Given the description of an element on the screen output the (x, y) to click on. 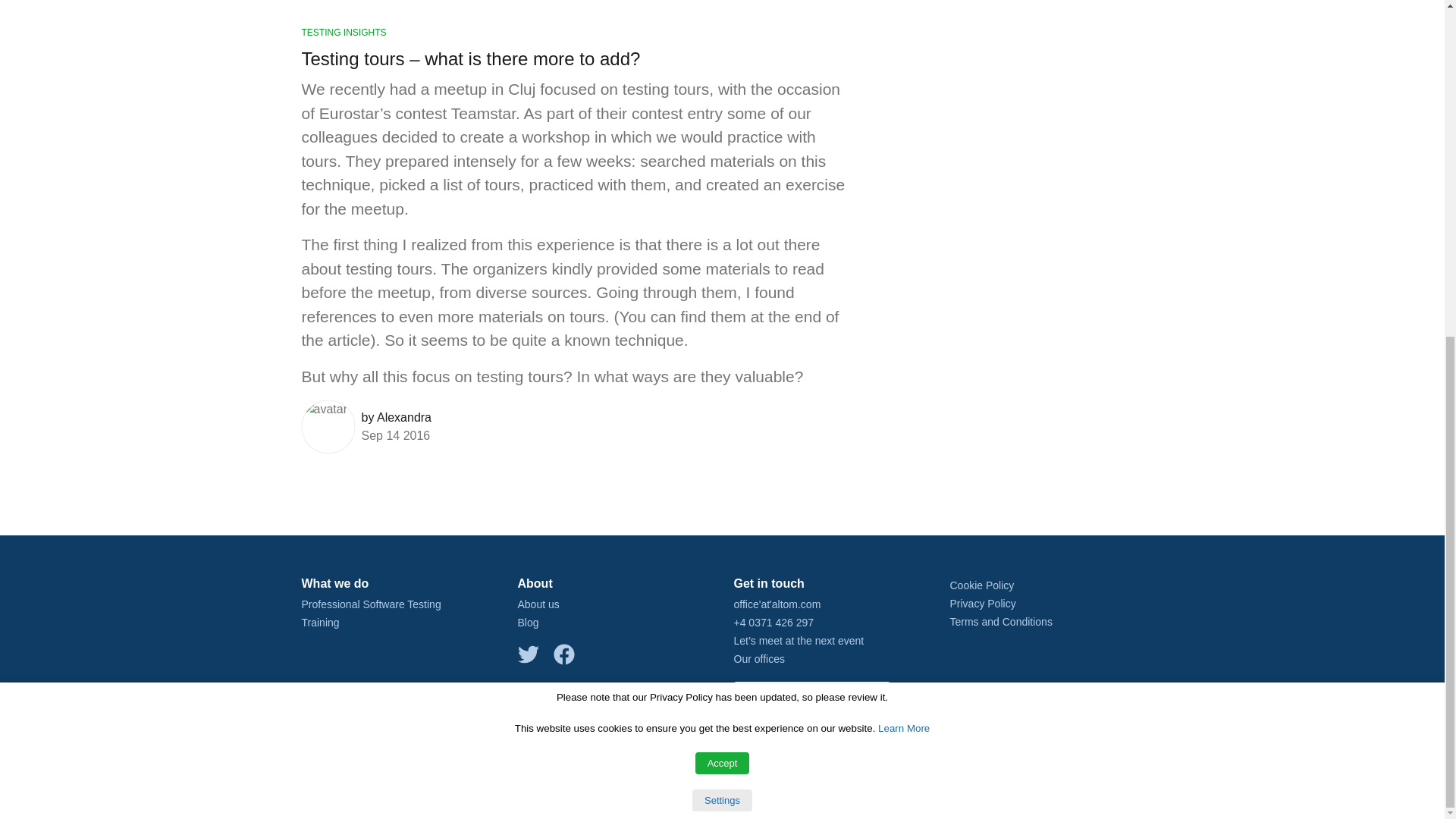
Accept (722, 196)
Training (320, 622)
Terms and Conditions (1000, 621)
Blog (527, 622)
office'at'altom.com (777, 604)
About us (537, 604)
Professional Software Testing (371, 604)
Alexandra (403, 417)
Learn More (903, 161)
Subscribe to our newsletter (812, 693)
Privacy Policy (981, 603)
TESTING INSIGHTS (344, 32)
Cookie Policy (981, 585)
Our offices (758, 658)
Settings (722, 233)
